Given the description of an element on the screen output the (x, y) to click on. 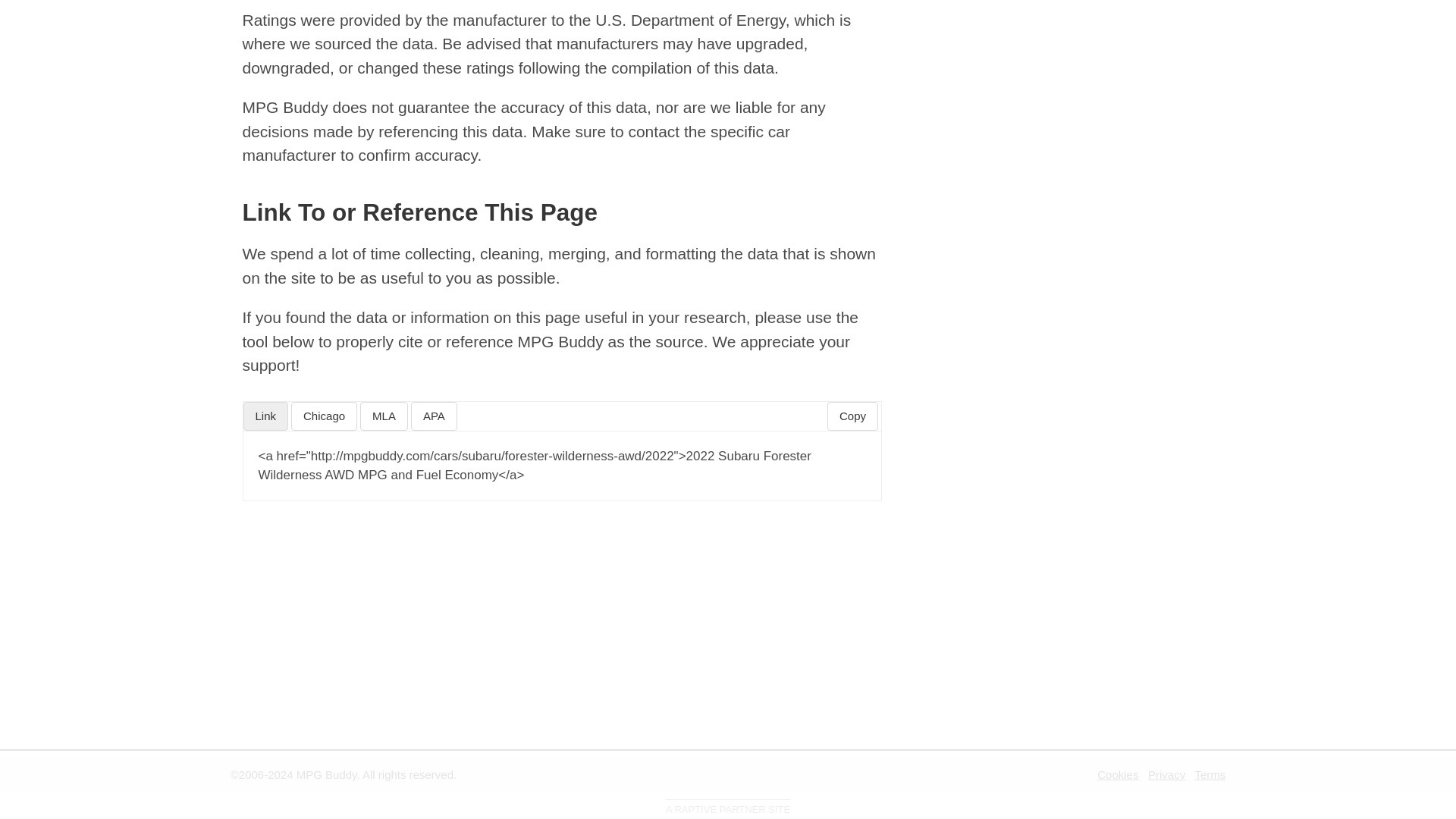
Copy (852, 416)
MLA (383, 416)
Link (265, 416)
Terms (1209, 774)
Cookies (1117, 774)
Legacy AWD (302, 18)
Privacy (1166, 774)
Chicago (323, 416)
APA (433, 416)
Ascent (280, 59)
